Given the description of an element on the screen output the (x, y) to click on. 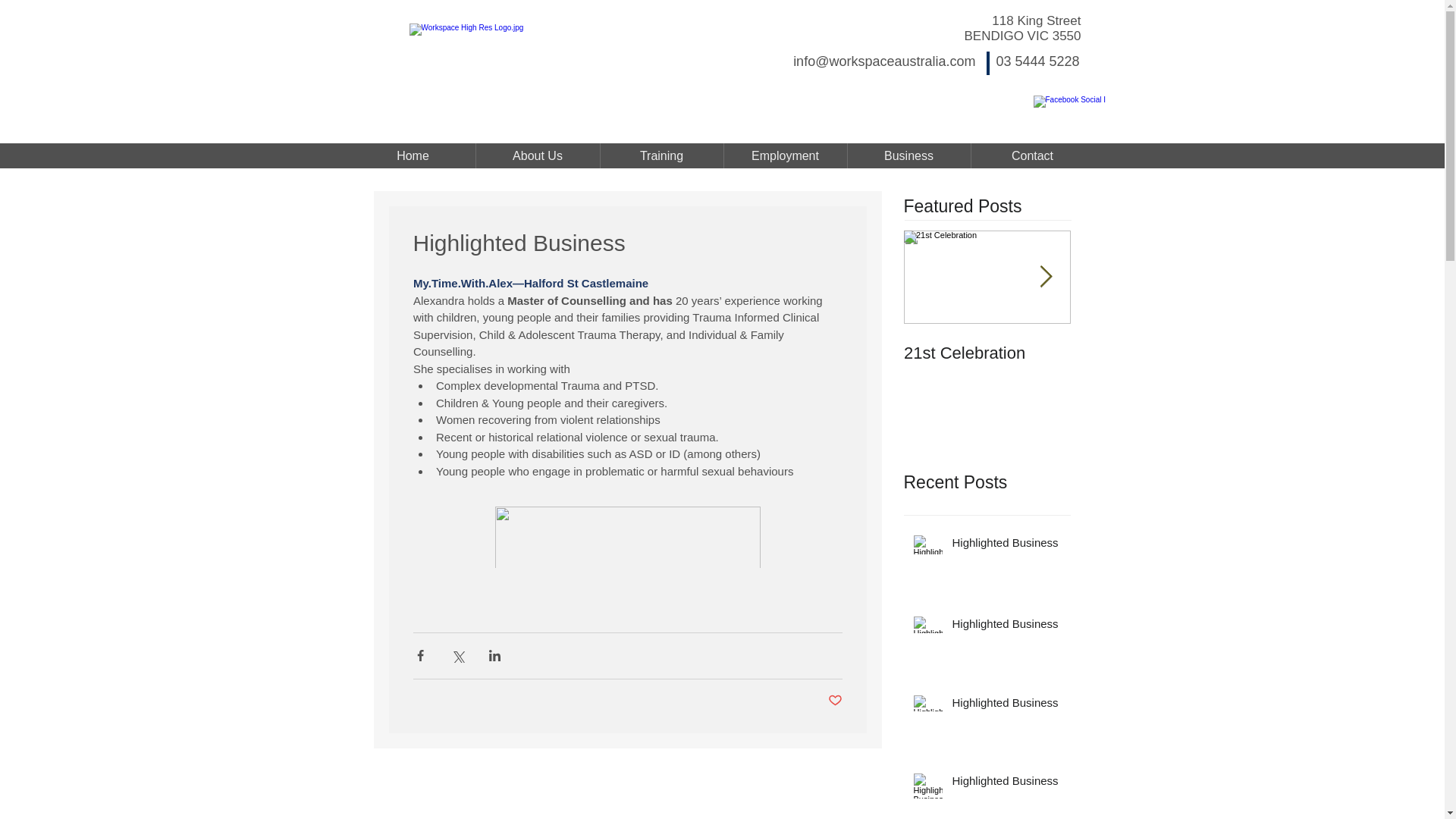
Home (412, 155)
Post not marked as liked (835, 700)
Volunteer Board Member Positions available (1153, 372)
Employment (784, 155)
Highlighted Business (1006, 783)
Highlighted Business (1006, 705)
21st Celebration (987, 353)
Highlighted Business (1006, 545)
Contact (1032, 155)
Highlighted Business (1006, 626)
